Given the description of an element on the screen output the (x, y) to click on. 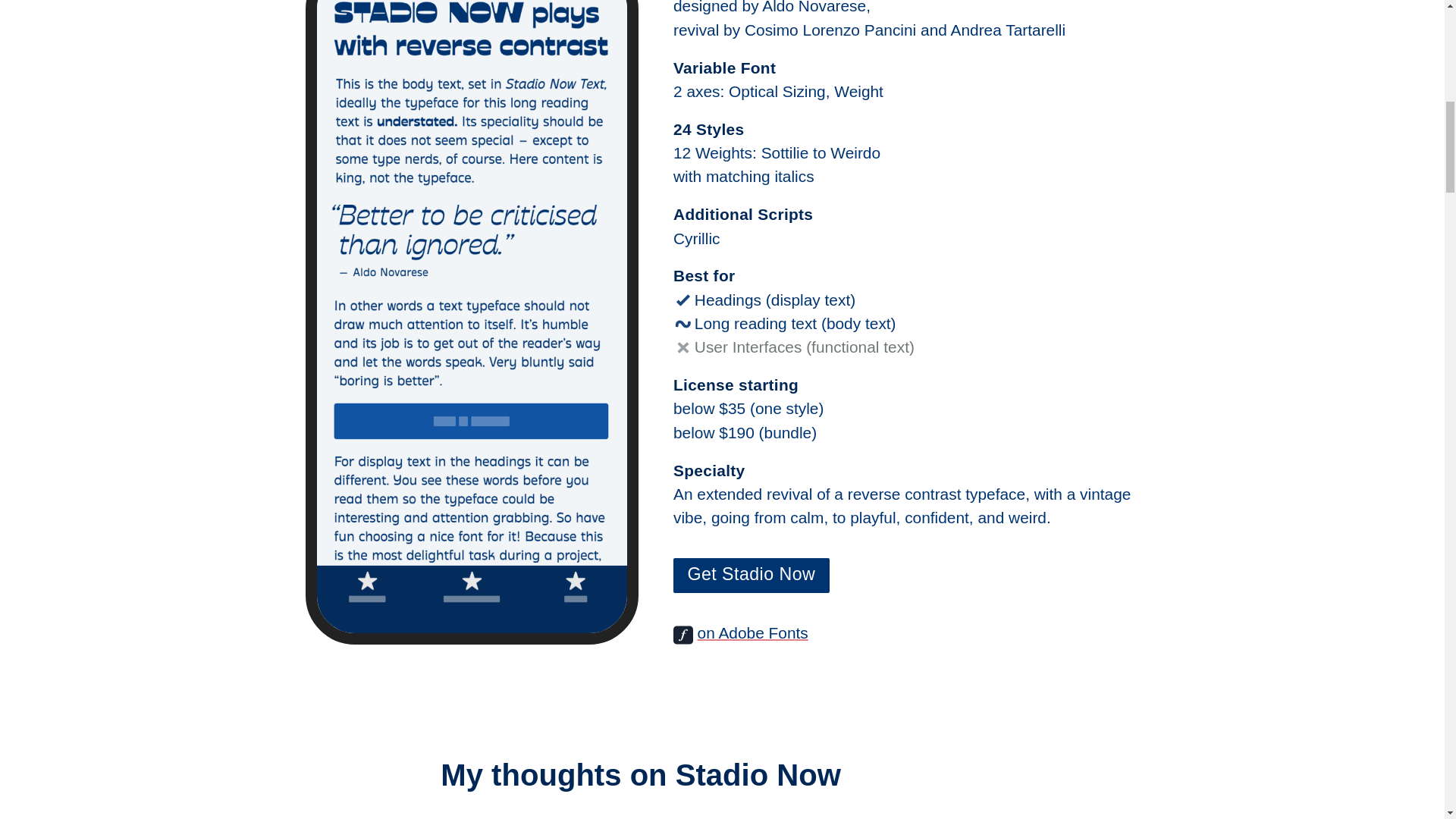
Get Stadio Now (750, 574)
on Adobe Fonts (752, 632)
